Given the description of an element on the screen output the (x, y) to click on. 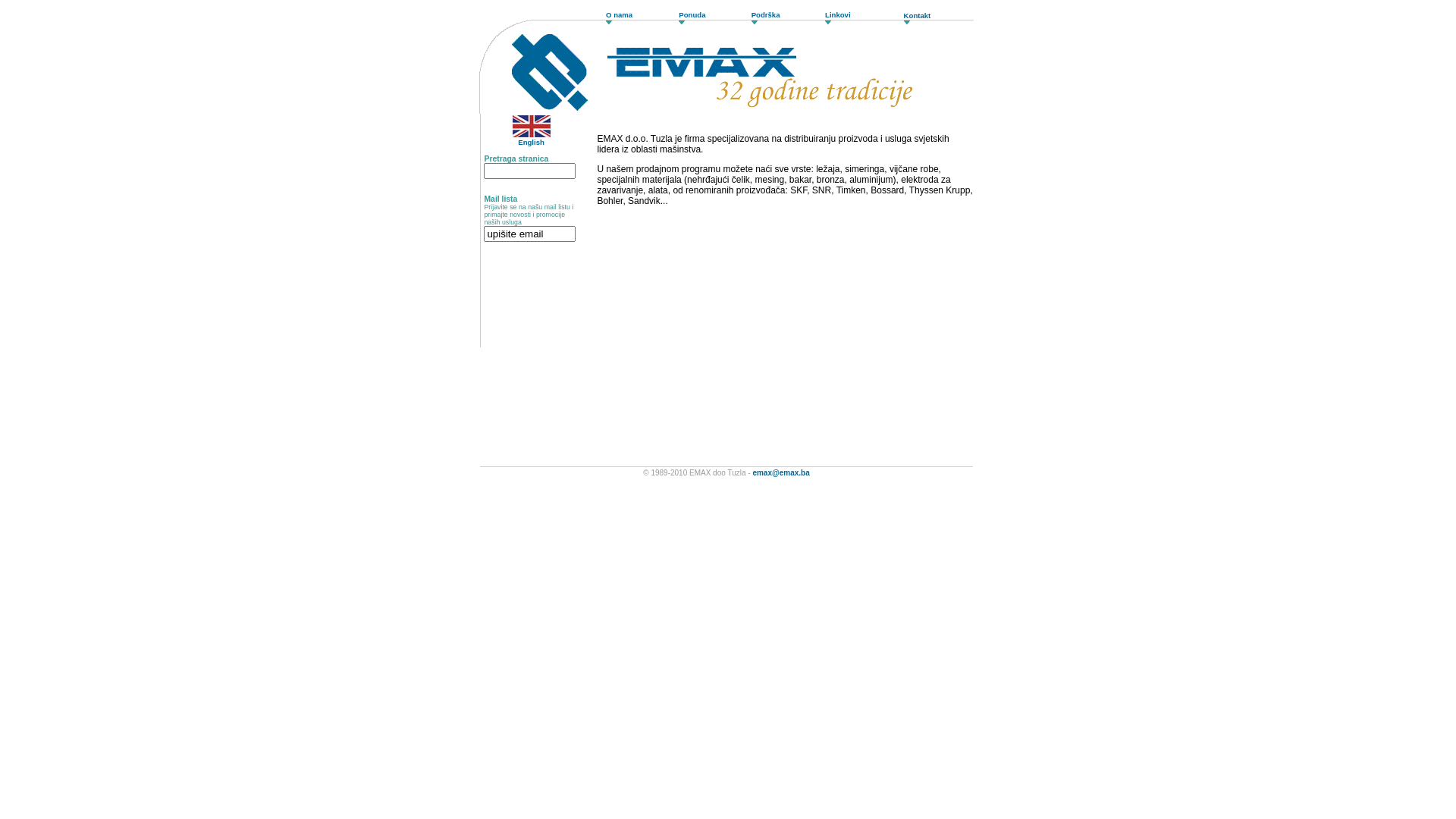
emax@emax.ba Element type: text (780, 472)
Ponuda Element type: text (691, 14)
O nama Element type: text (618, 14)
English Element type: text (531, 138)
Linkovi Element type: text (837, 14)
Kontakt Element type: text (917, 15)
